Given the description of an element on the screen output the (x, y) to click on. 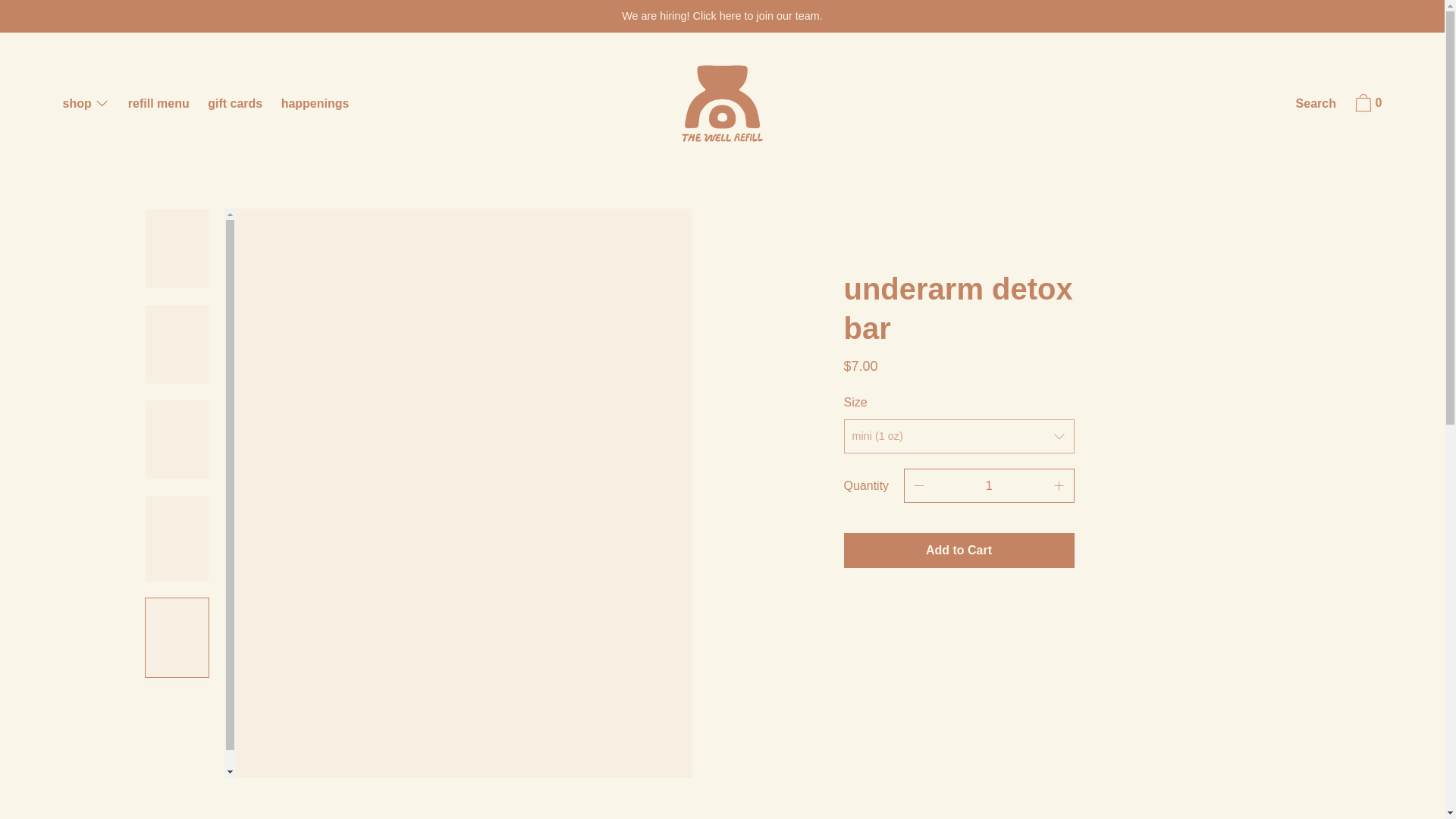
shop (85, 105)
0 (1366, 104)
gift cards (234, 105)
refill menu (158, 105)
happenings (314, 105)
Search (1315, 105)
1 (988, 485)
